Given the description of an element on the screen output the (x, y) to click on. 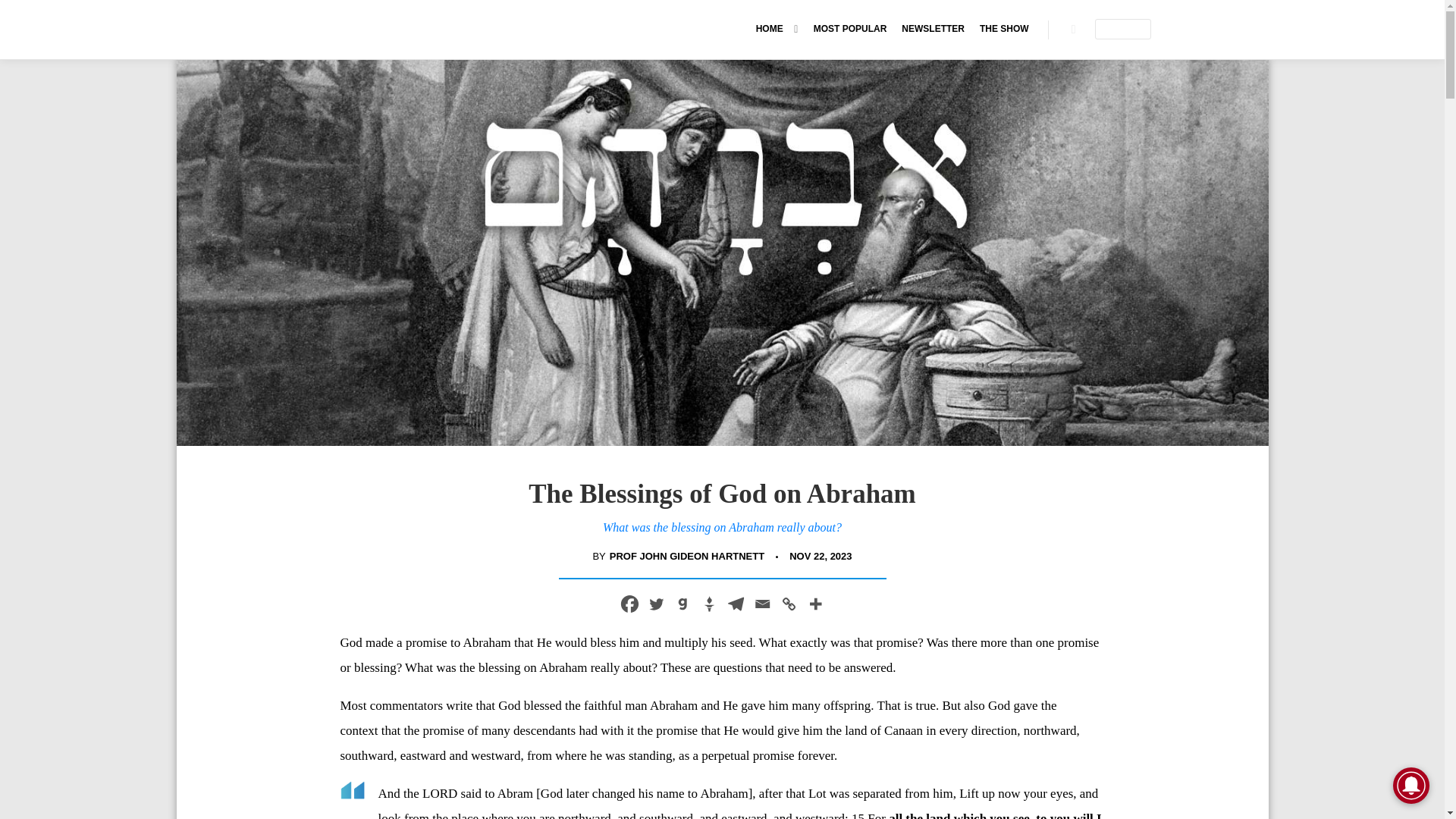
Twitter (656, 603)
Gettr (708, 603)
Telegram (734, 603)
THE SHOW (1004, 29)
Facebook (628, 603)
PROF JOHN GIDEON HARTNETT (687, 556)
NEWSLETTER (932, 29)
Search (1073, 29)
Search (1073, 29)
Copy Link (787, 603)
HOME (767, 29)
Gab (681, 603)
MOST POPULAR (850, 29)
HELP US (1122, 28)
